Given the description of an element on the screen output the (x, y) to click on. 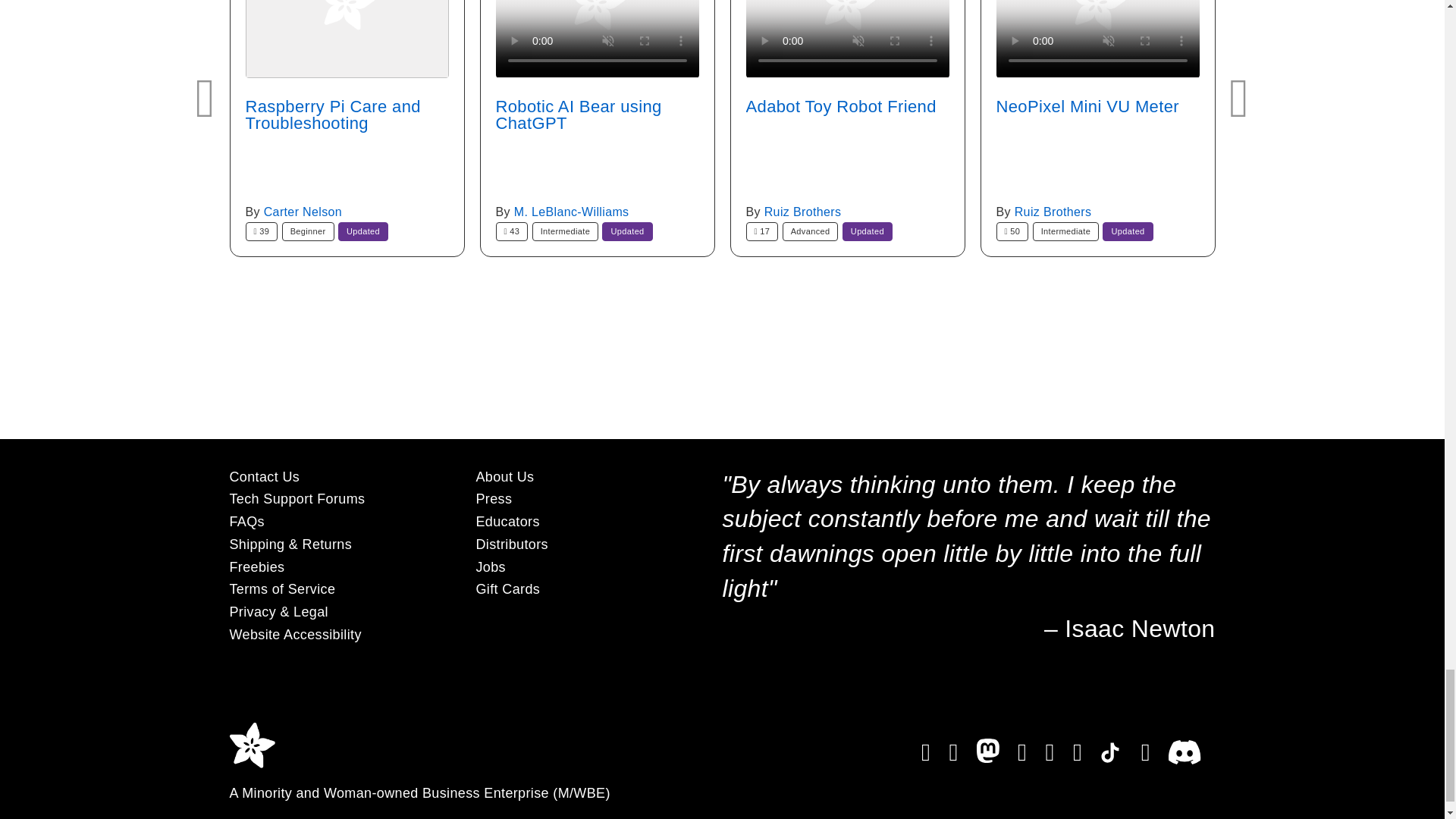
Saves (512, 230)
Saves (1012, 230)
Saves (262, 230)
Saves (761, 230)
